Given the description of an element on the screen output the (x, y) to click on. 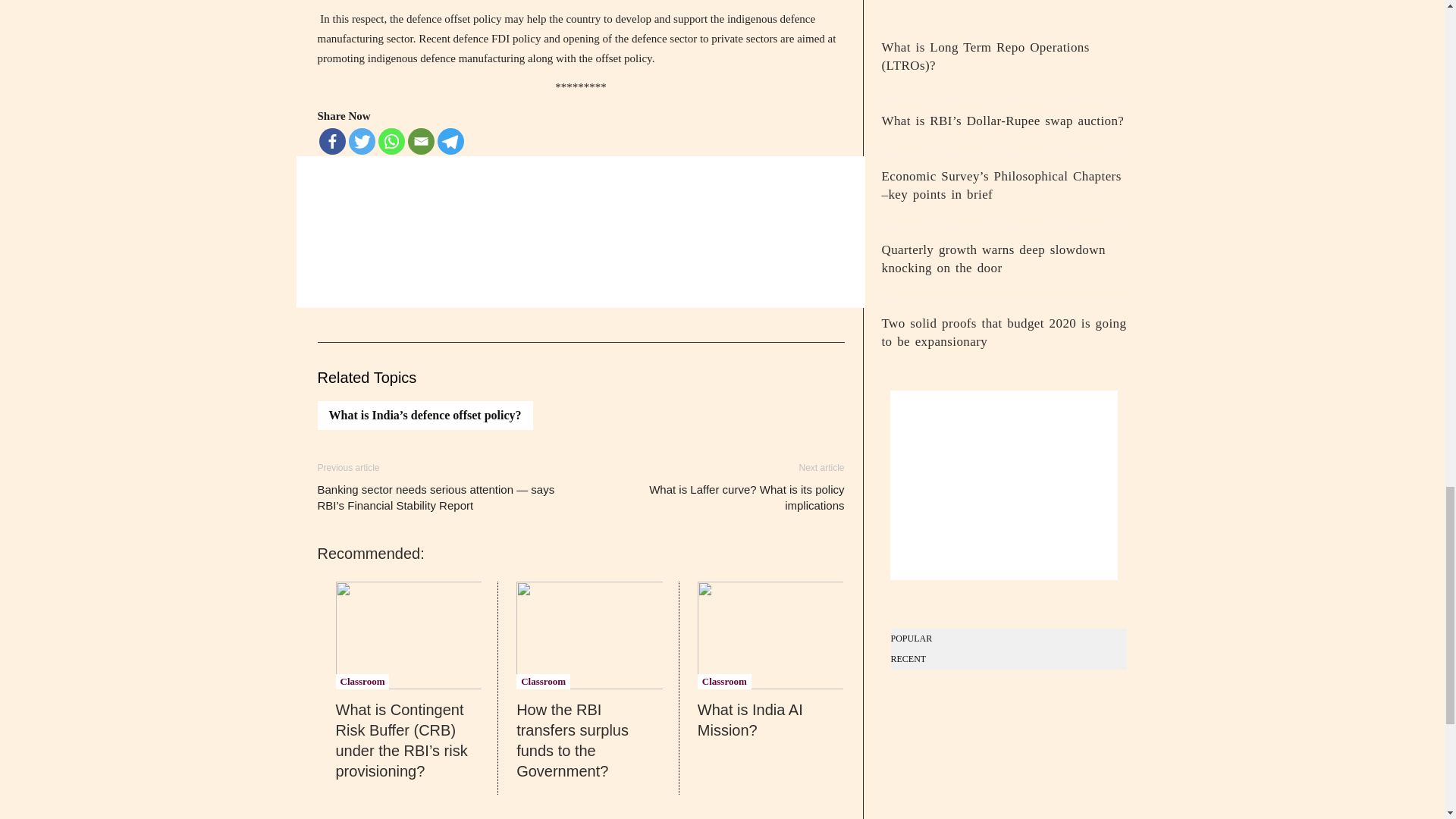
Whatsapp (390, 140)
Facebook (331, 140)
Email (420, 140)
Twitter (362, 140)
Telegram (449, 140)
How the RBI transfers surplus funds to the Government? (589, 635)
